Given the description of an element on the screen output the (x, y) to click on. 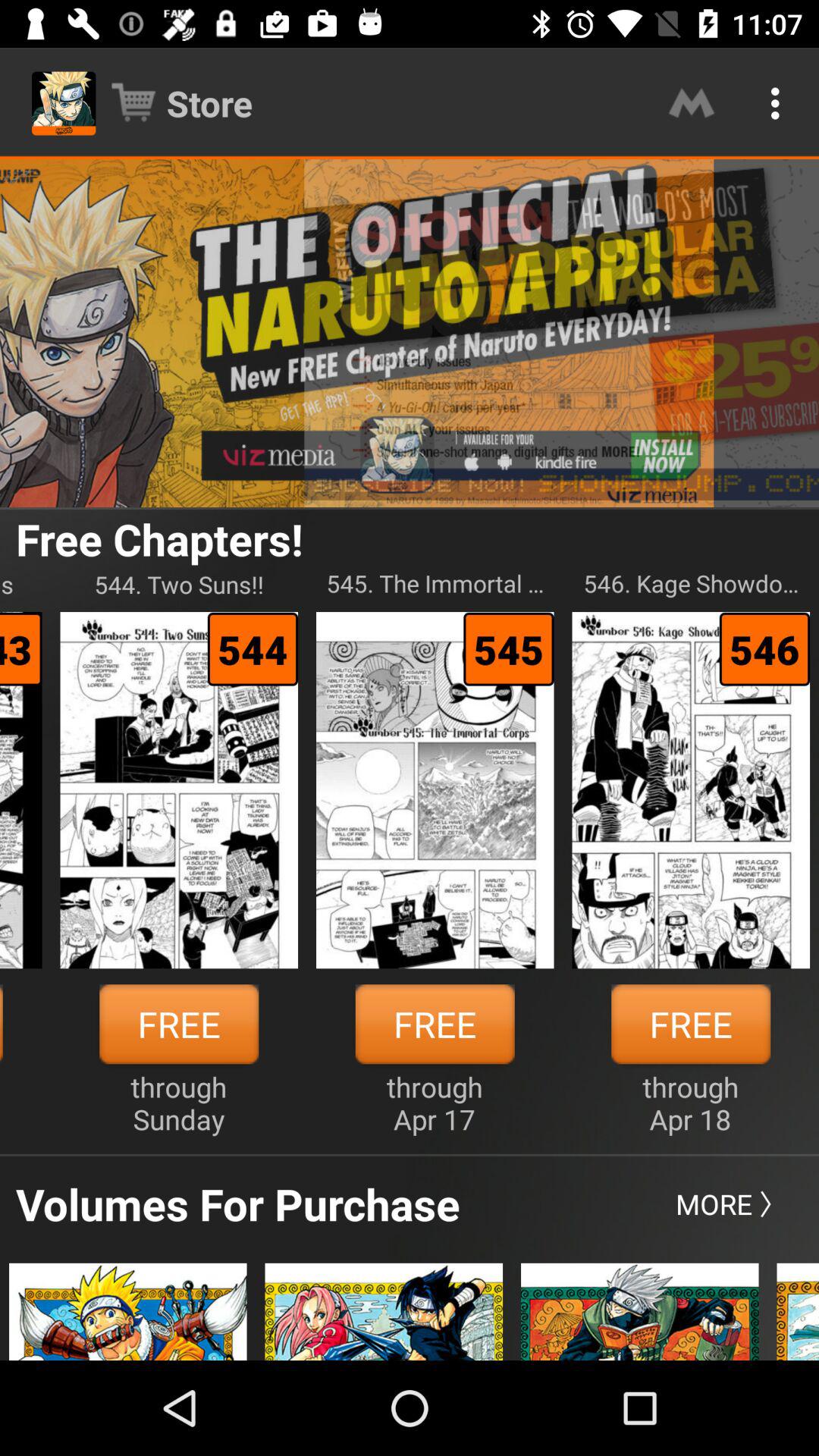
press item above the volumes for purchase icon (178, 1103)
